Given the description of an element on the screen output the (x, y) to click on. 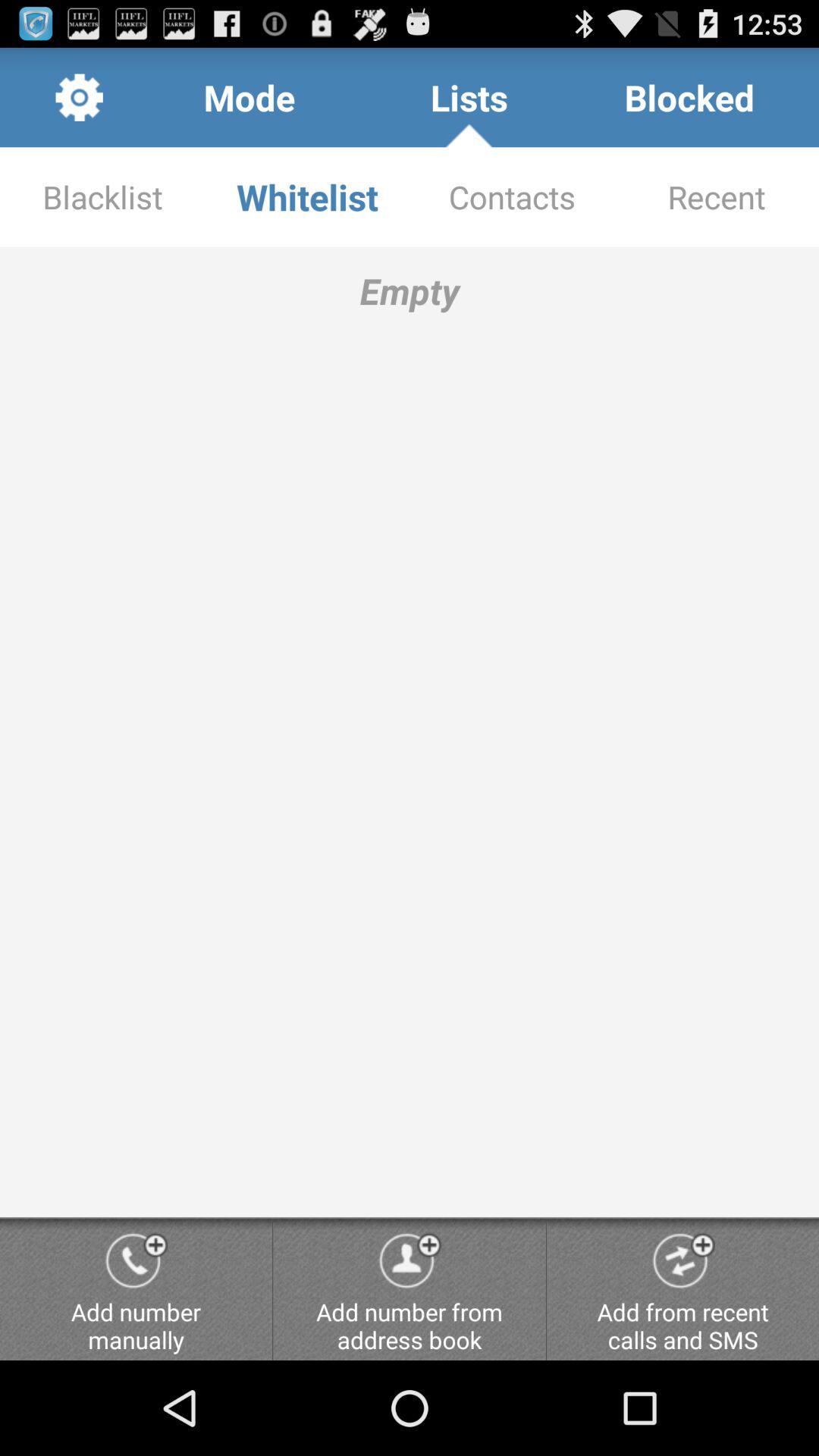
choose icon above contacts item (689, 97)
